Given the description of an element on the screen output the (x, y) to click on. 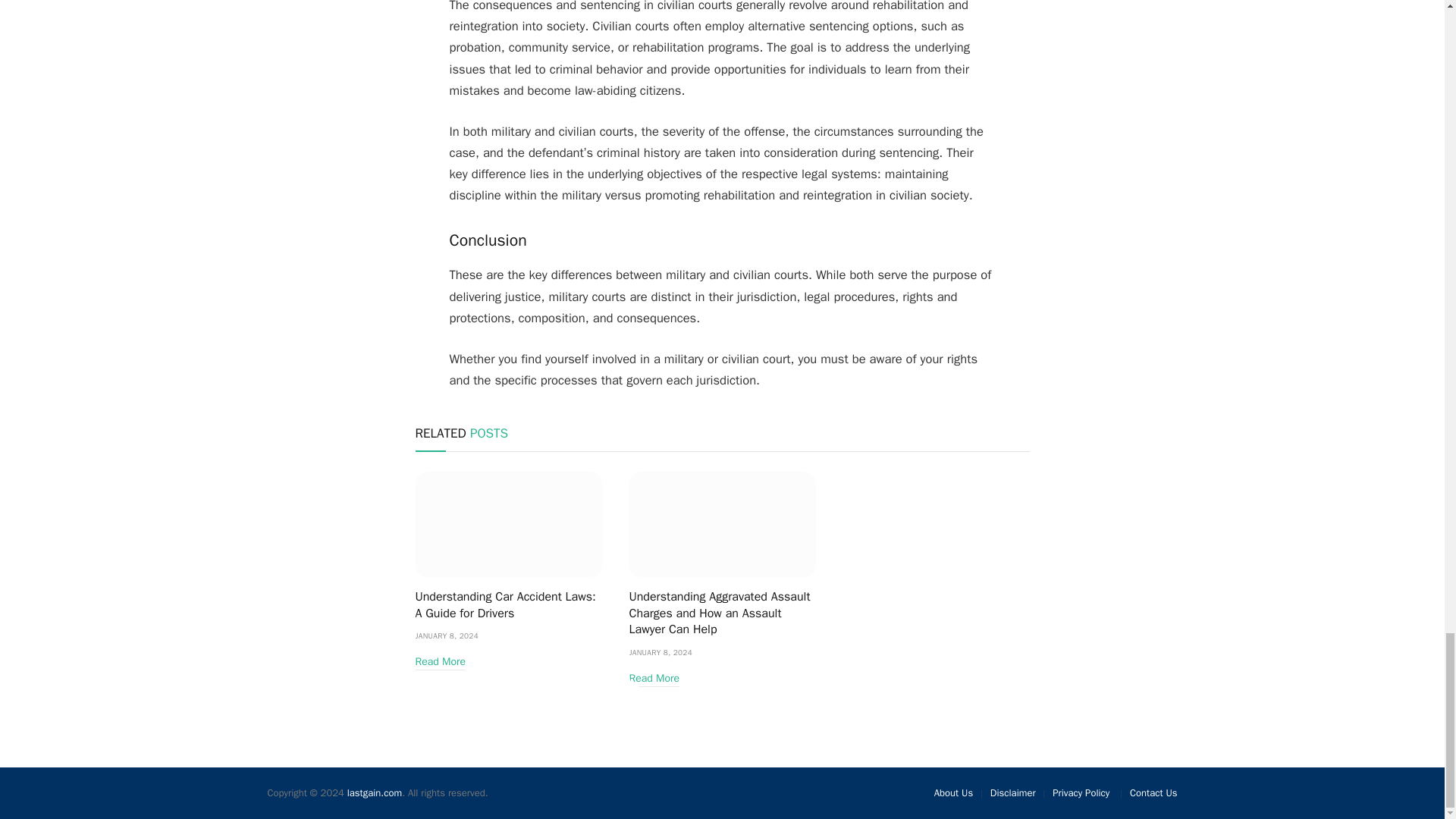
Understanding Car Accident Laws: A Guide for Drivers (508, 605)
Read More (439, 661)
